Given the description of an element on the screen output the (x, y) to click on. 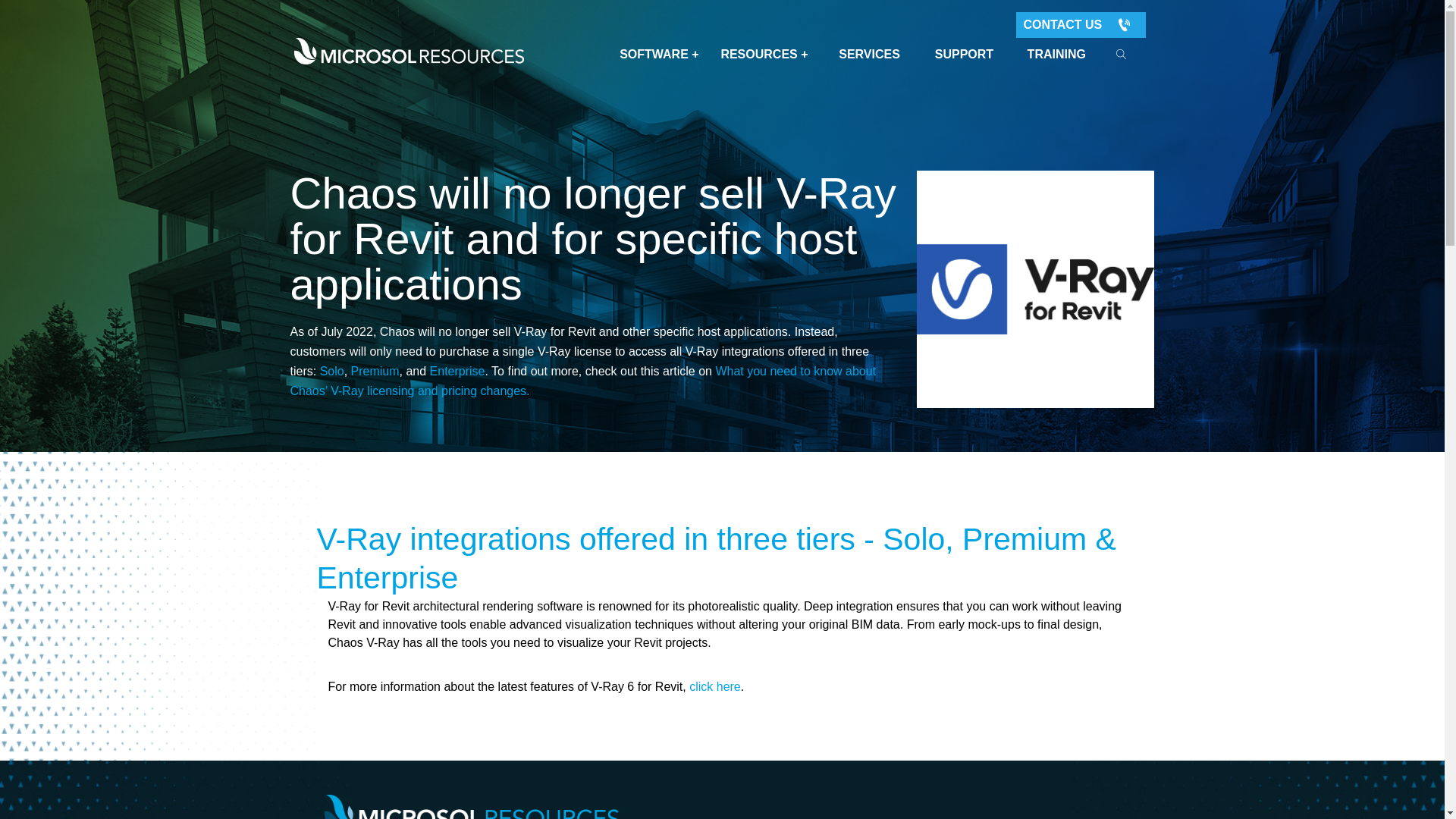
Microsol Resources (409, 50)
CONTACT US (1080, 24)
SUPPORT (963, 54)
Microsol Resources (471, 806)
TRAINING (1056, 54)
SERVICES (869, 54)
